Given the description of an element on the screen output the (x, y) to click on. 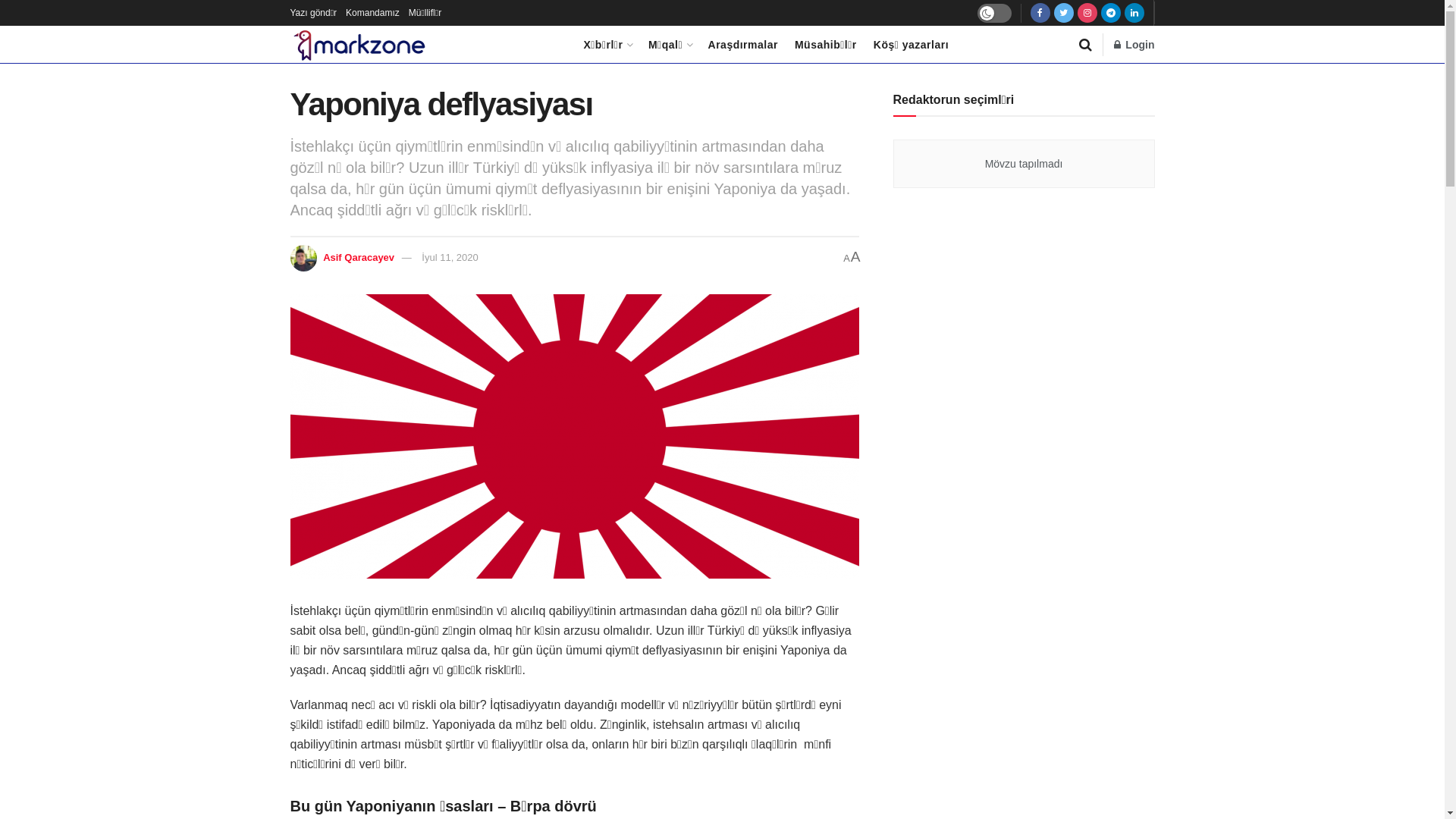
Asif Qaracayev Element type: text (358, 257)
Login Element type: text (1133, 44)
